Given the description of an element on the screen output the (x, y) to click on. 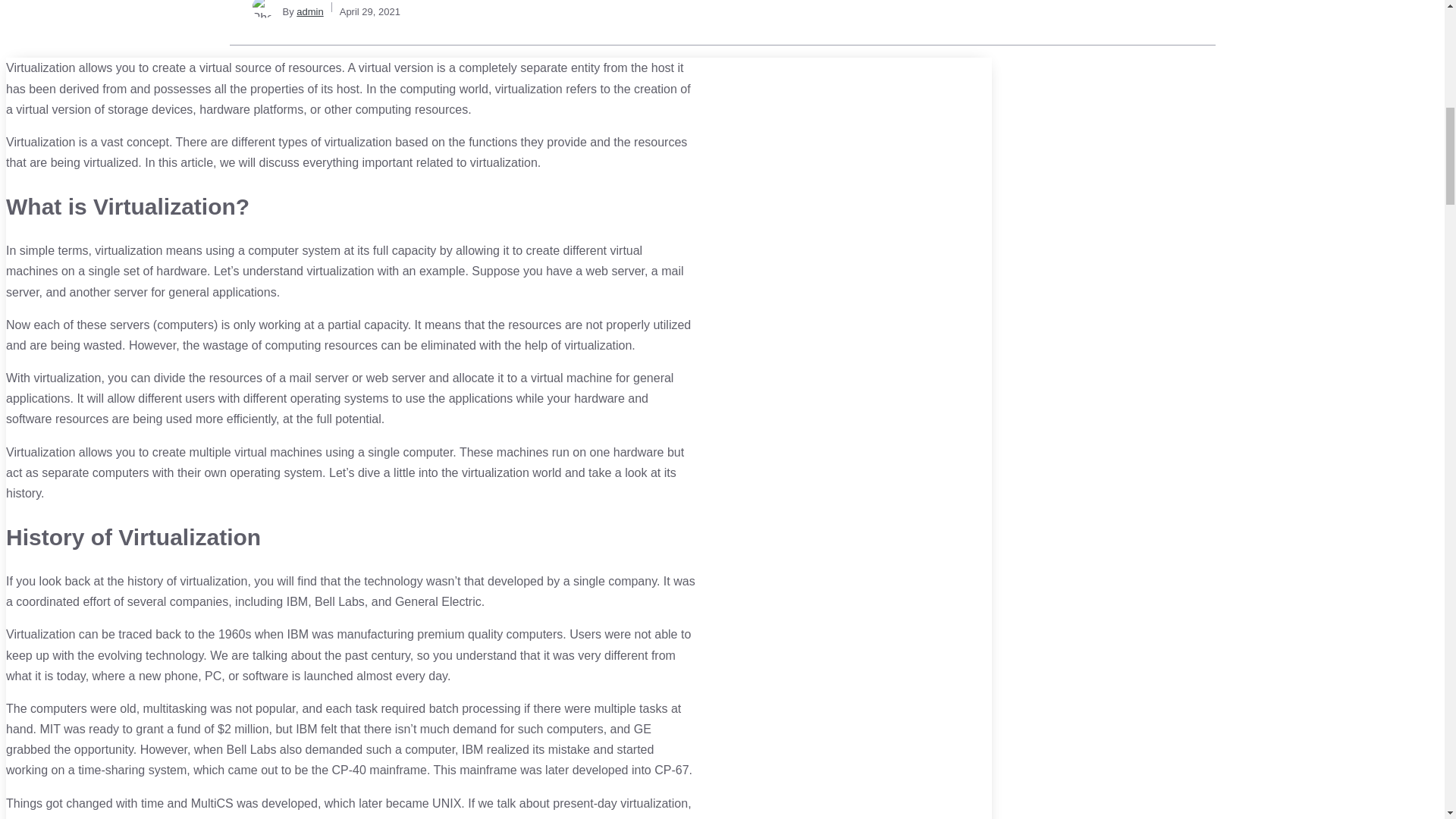
admin (310, 11)
Scroll back to top (1406, 720)
